Given the description of an element on the screen output the (x, y) to click on. 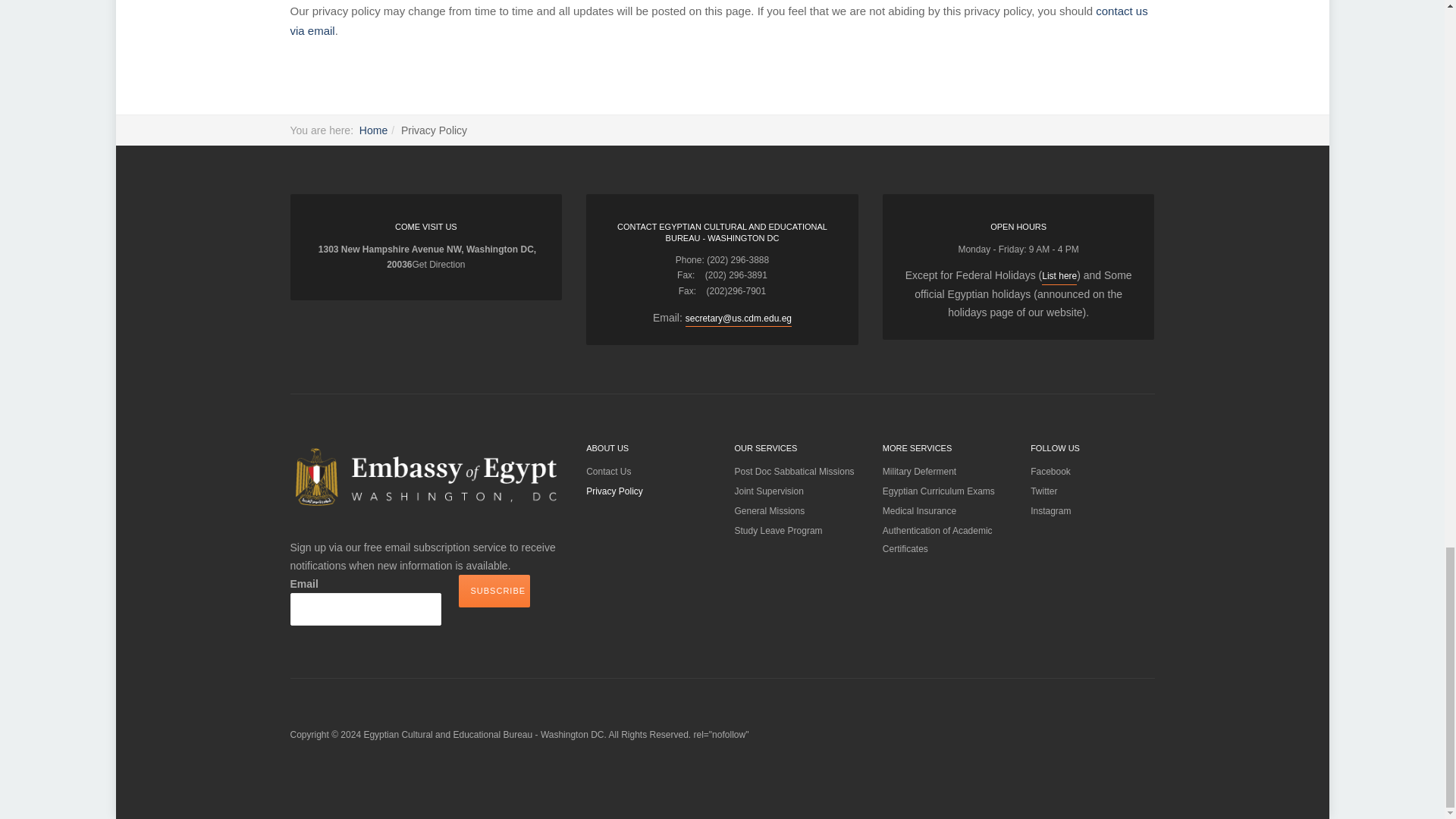
Subscribe (493, 590)
